Given the description of an element on the screen output the (x, y) to click on. 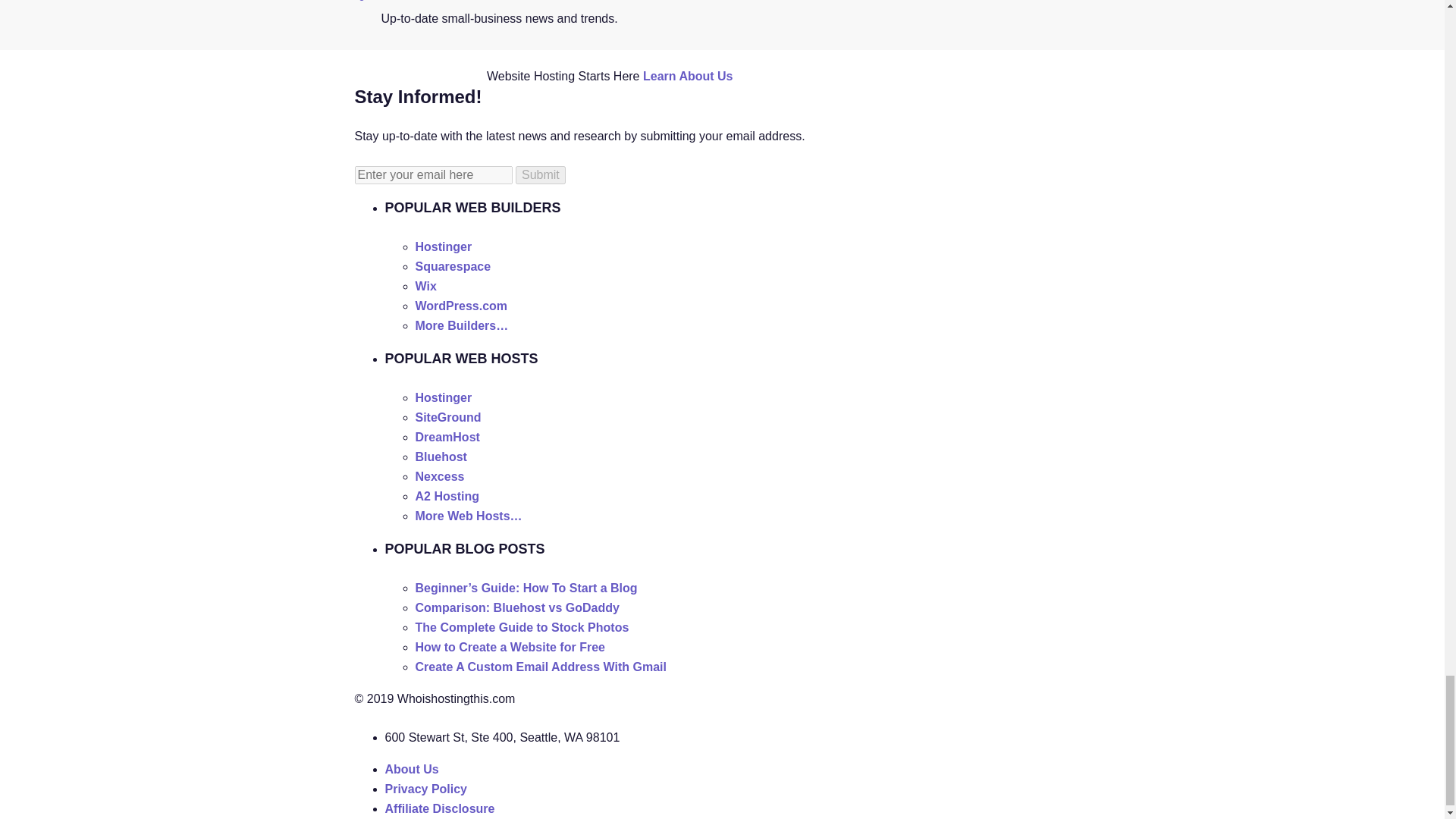
Submit (540, 175)
